Given the description of an element on the screen output the (x, y) to click on. 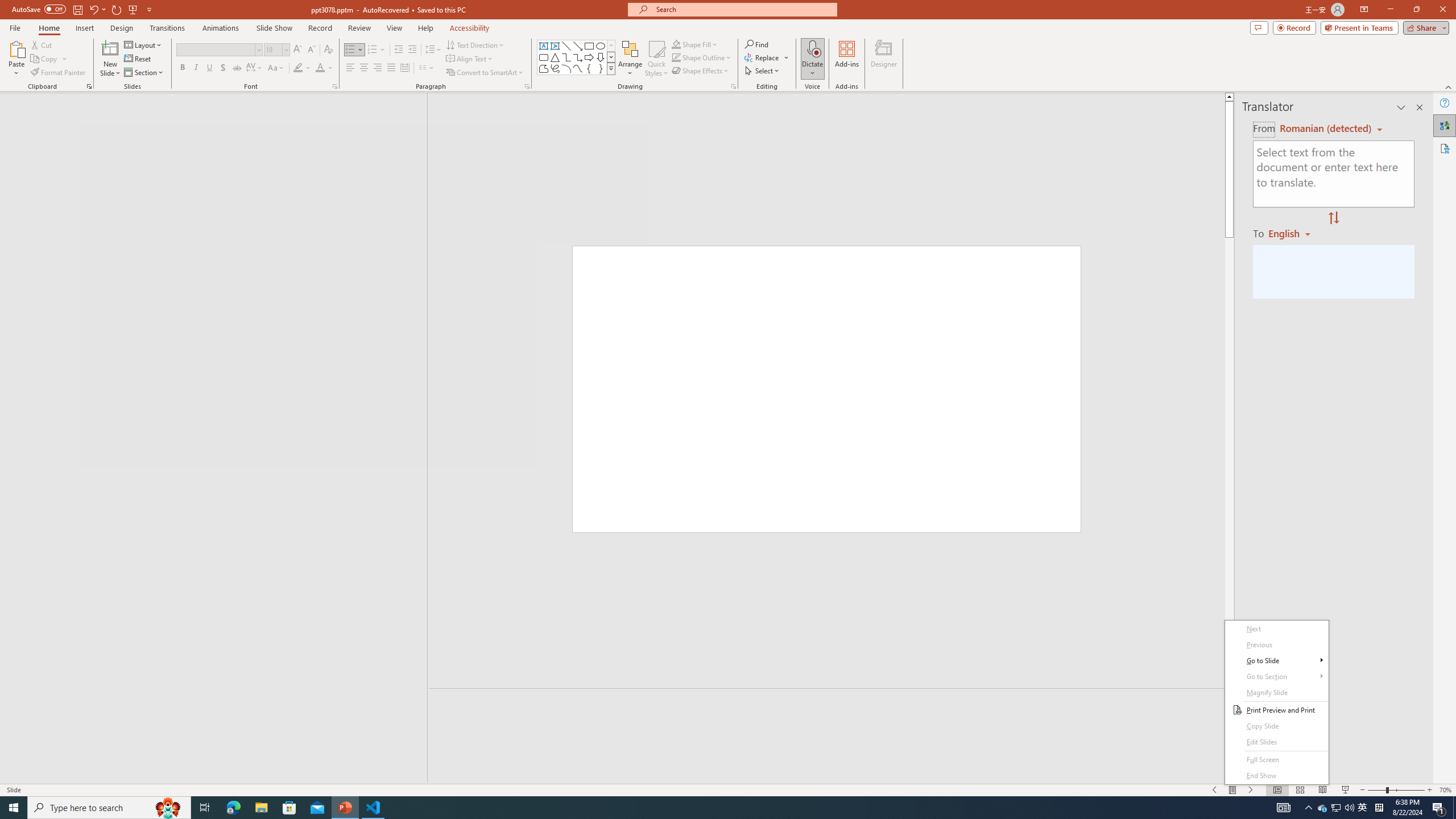
Go to Slide (1276, 660)
